Given the description of an element on the screen output the (x, y) to click on. 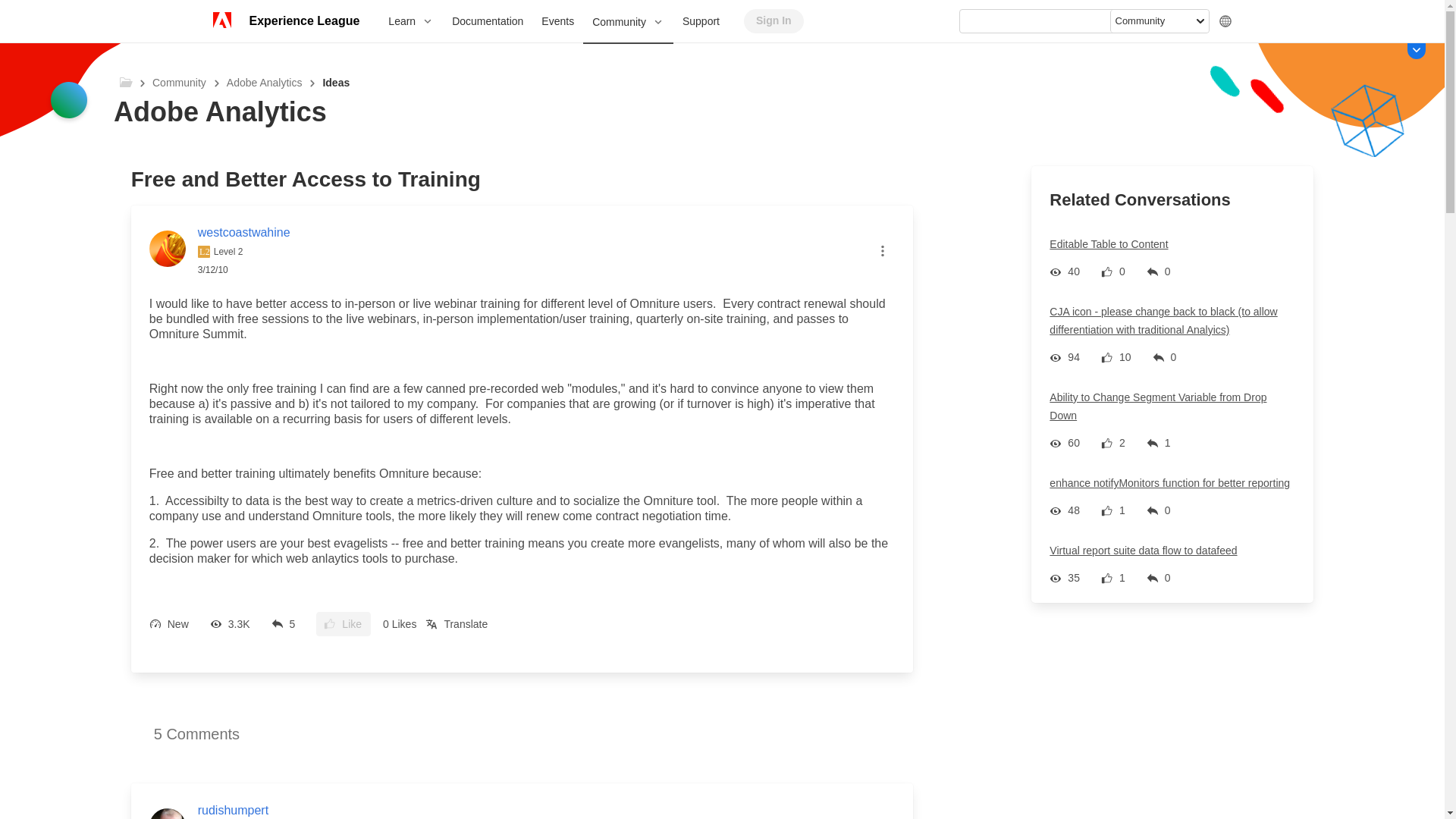
Experience League (304, 21)
Learn (410, 21)
Experience League (304, 21)
Documentation (487, 21)
Events (557, 21)
Community (627, 22)
Learn (410, 21)
